Given the description of an element on the screen output the (x, y) to click on. 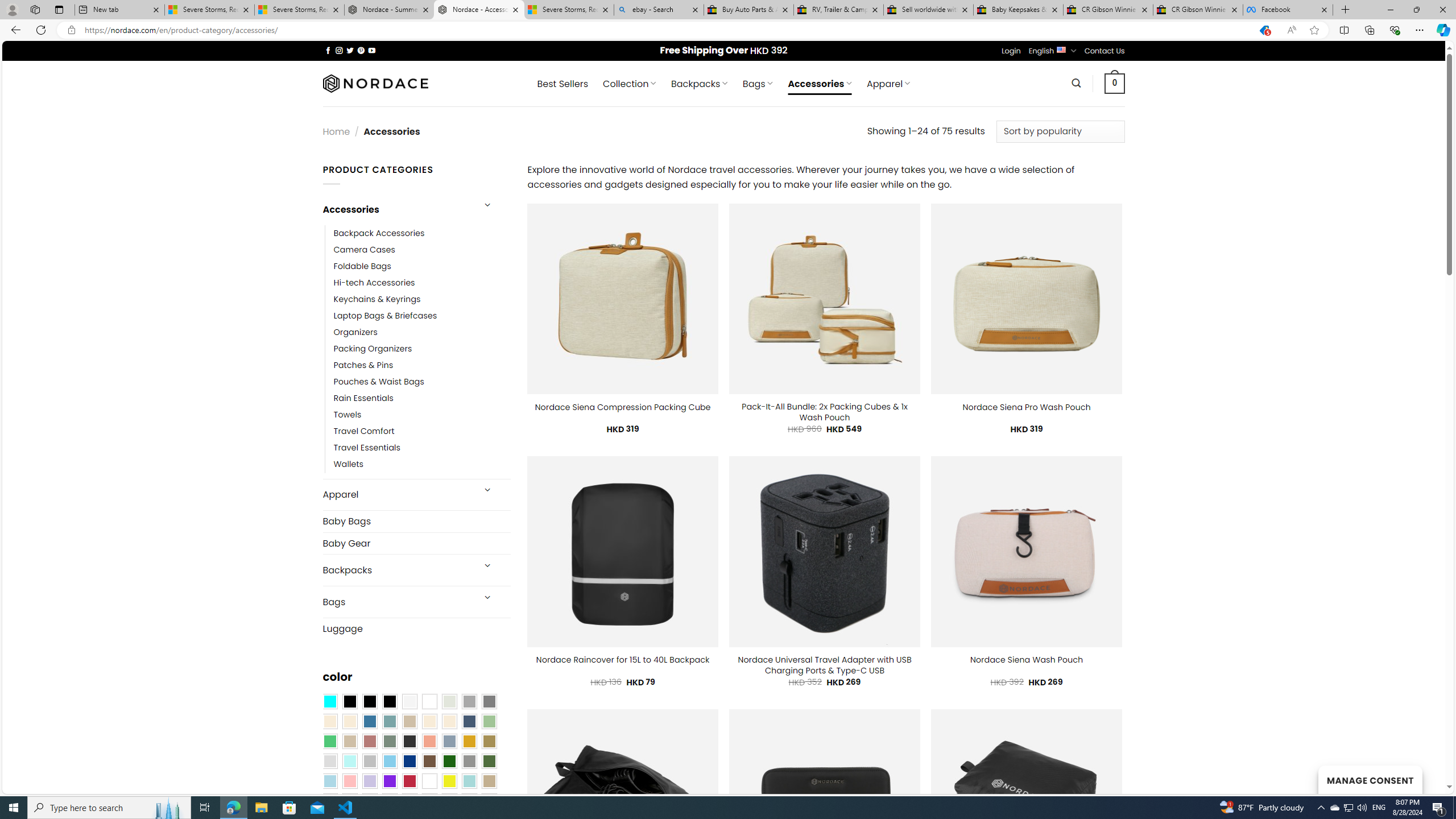
Camera Cases (363, 248)
Nordace - Summer Adventures 2024 (389, 9)
Baby Bags (416, 521)
Aqua Blue (329, 701)
Pouches & Waist Bags (378, 381)
Beige-Brown (349, 721)
Follow on Twitter (349, 49)
This site has coupons! Shopping in Microsoft Edge, 5 (1263, 29)
Black-Brown (389, 701)
Baby Keepsakes & Announcements for sale | eBay (1018, 9)
Accessories (397, 209)
Purple (389, 780)
